Given the description of an element on the screen output the (x, y) to click on. 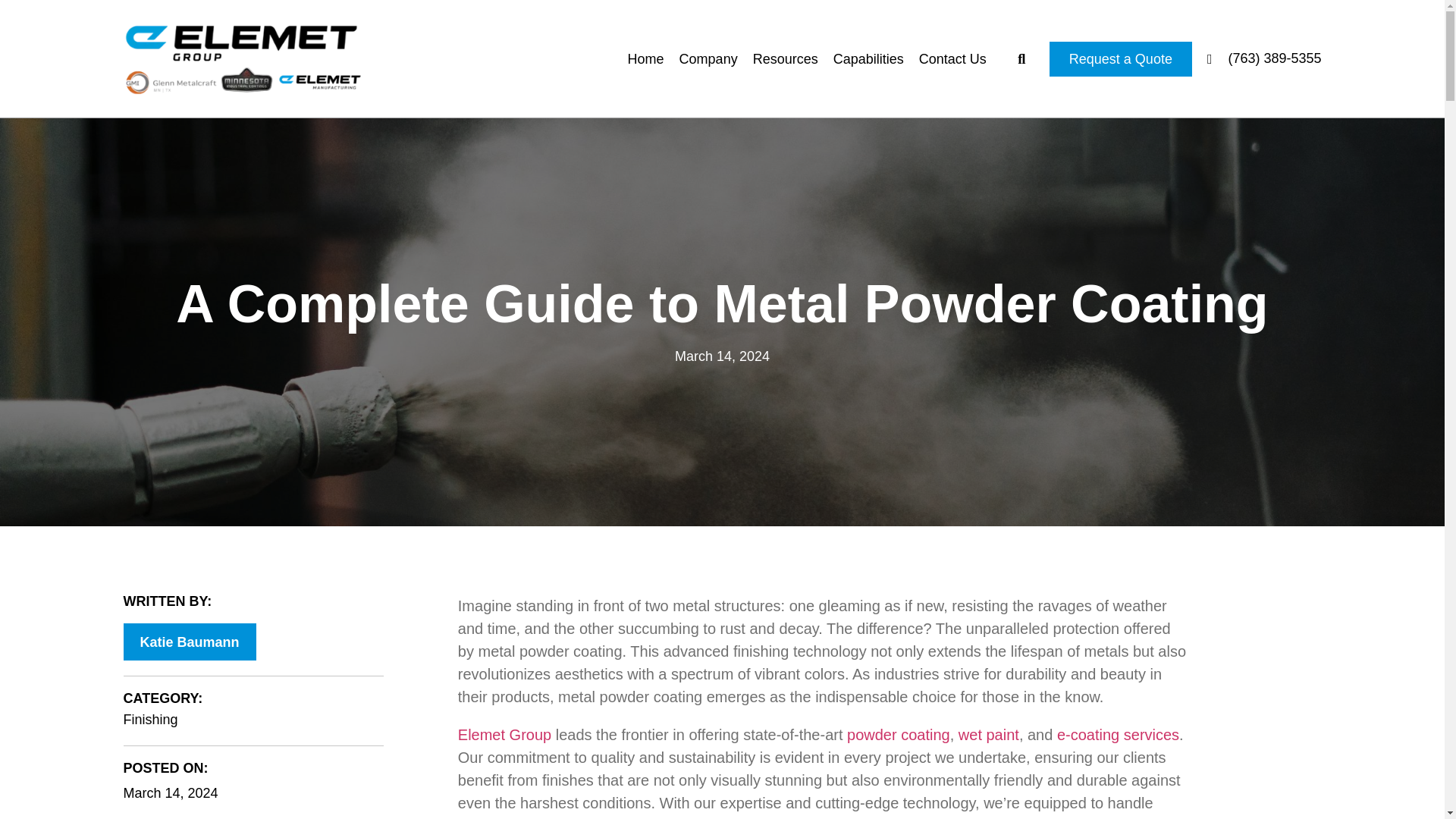
Home (645, 58)
Resources (785, 58)
Company (708, 58)
Contact Us (952, 58)
Capabilities (868, 58)
